Given the description of an element on the screen output the (x, y) to click on. 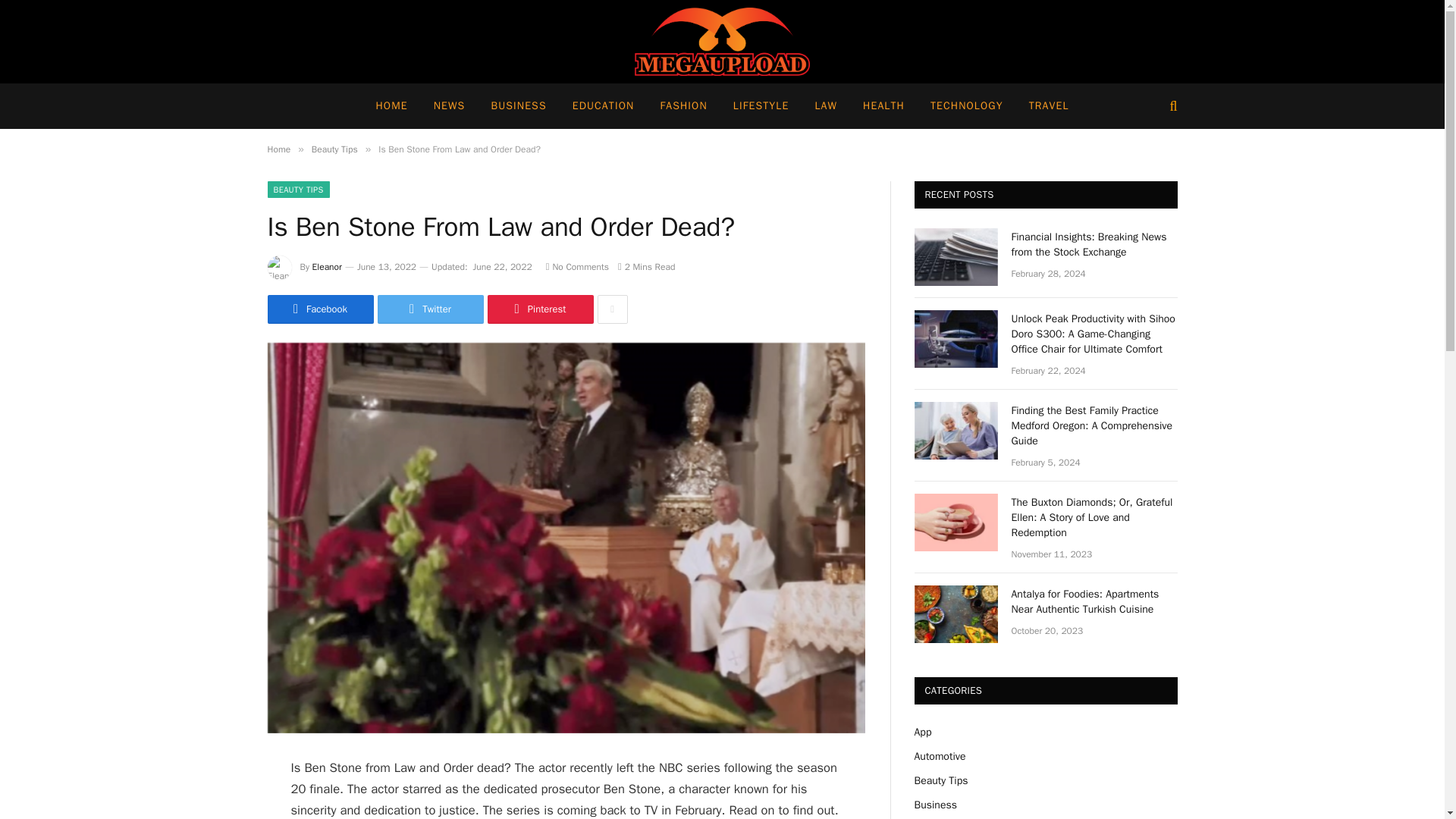
Pinterest (539, 308)
NEWS (449, 105)
Beauty Tips (334, 149)
Eleanor (327, 266)
TRAVEL (1048, 105)
Show More Social Sharing (611, 308)
No Comments (577, 266)
LIFESTYLE (761, 105)
Share on Pinterest (539, 308)
TECHNOLOGY (966, 105)
